Given the description of an element on the screen output the (x, y) to click on. 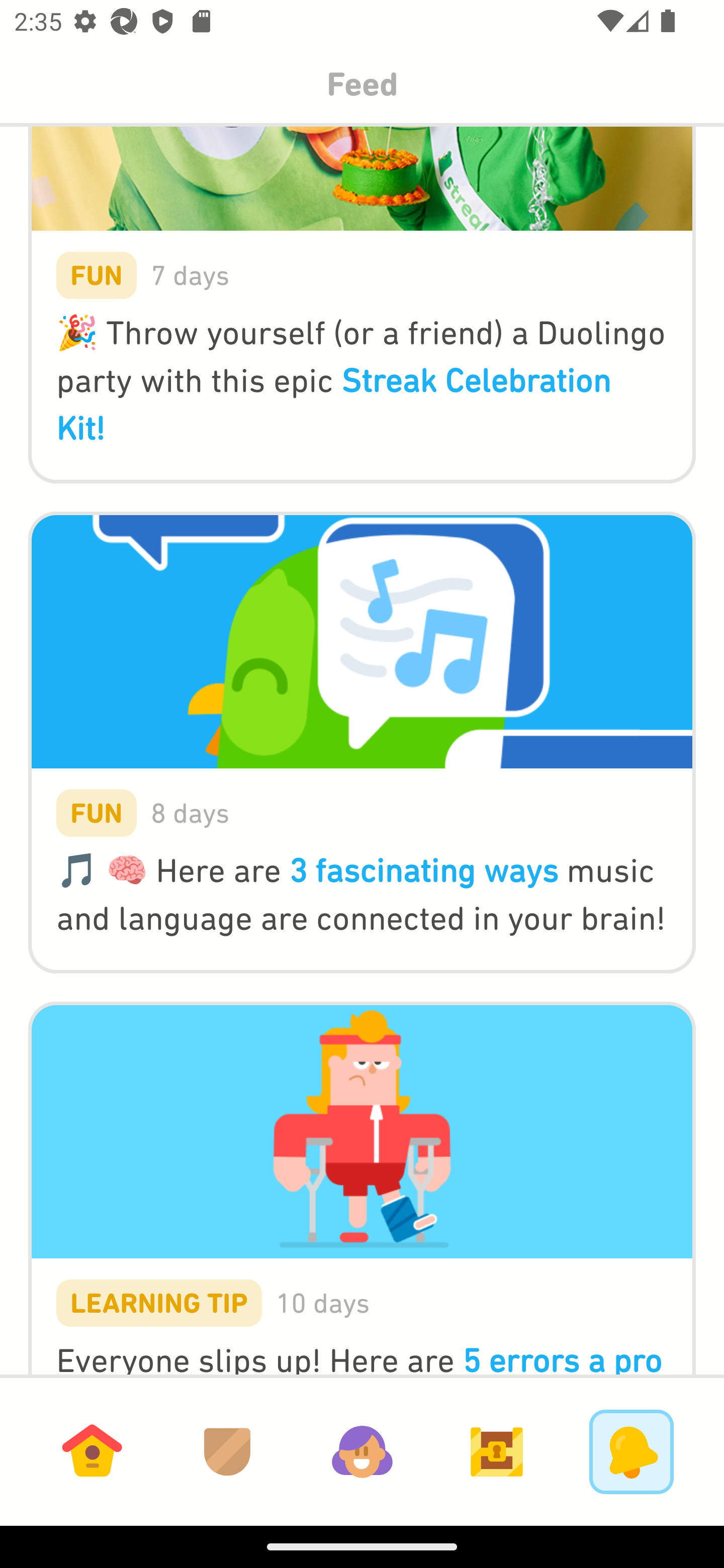
Learn Tab (91, 1451)
Leagues Tab (227, 1451)
Profile Tab (361, 1451)
Goals Tab (496, 1451)
News Tab (631, 1451)
